Given the description of an element on the screen output the (x, y) to click on. 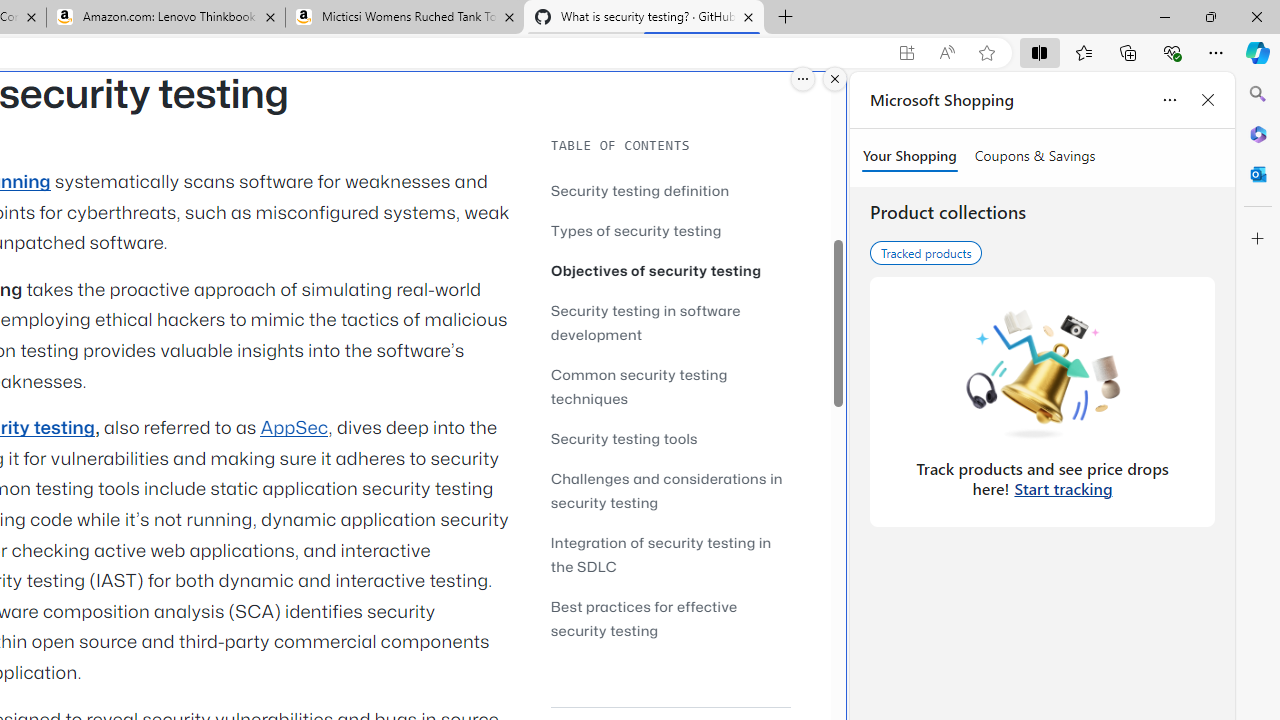
Types of security testing (670, 230)
Security testing definition (670, 190)
Challenges and considerations in security testing (670, 489)
Types of security testing (635, 230)
Challenges and considerations in security testing (666, 490)
Objectives of security testing (670, 269)
Common security testing techniques (639, 385)
More options. (803, 79)
Security testing tools (623, 438)
